Given the description of an element on the screen output the (x, y) to click on. 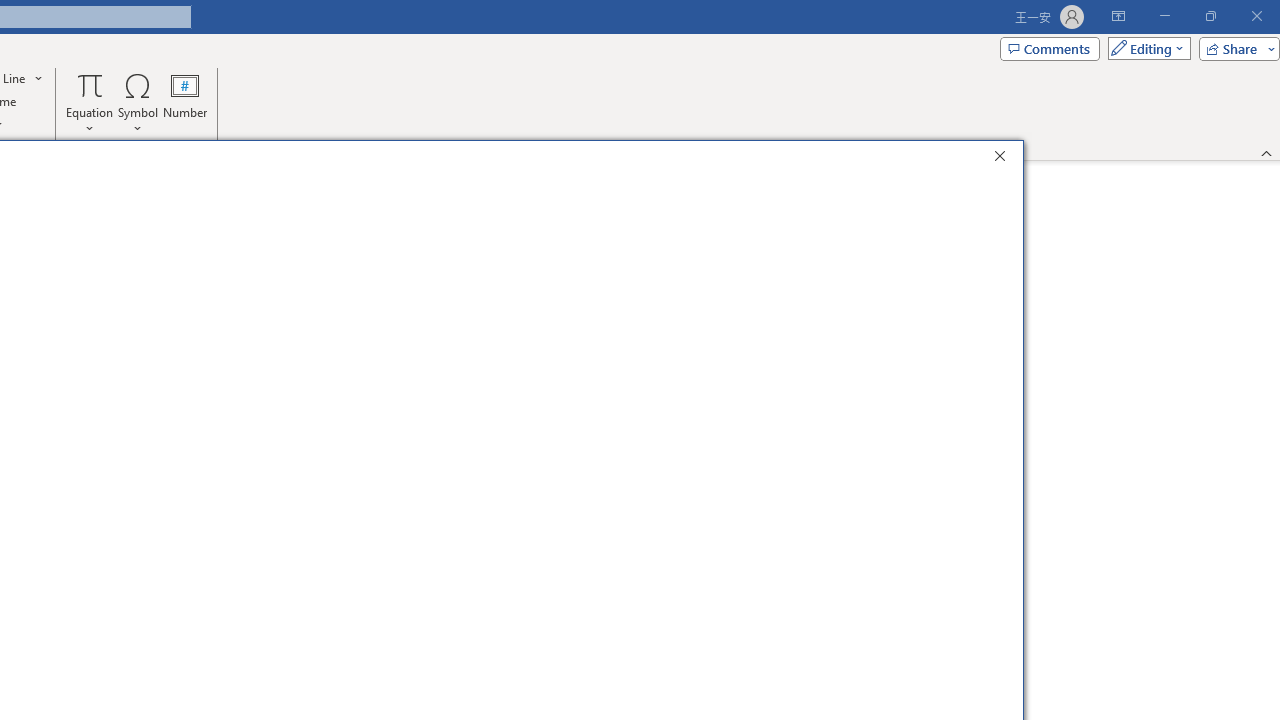
Symbol (138, 102)
Number... (185, 102)
Equation (90, 102)
Editing (1144, 47)
Equation (90, 84)
Send a Smile (922, 201)
